Given the description of an element on the screen output the (x, y) to click on. 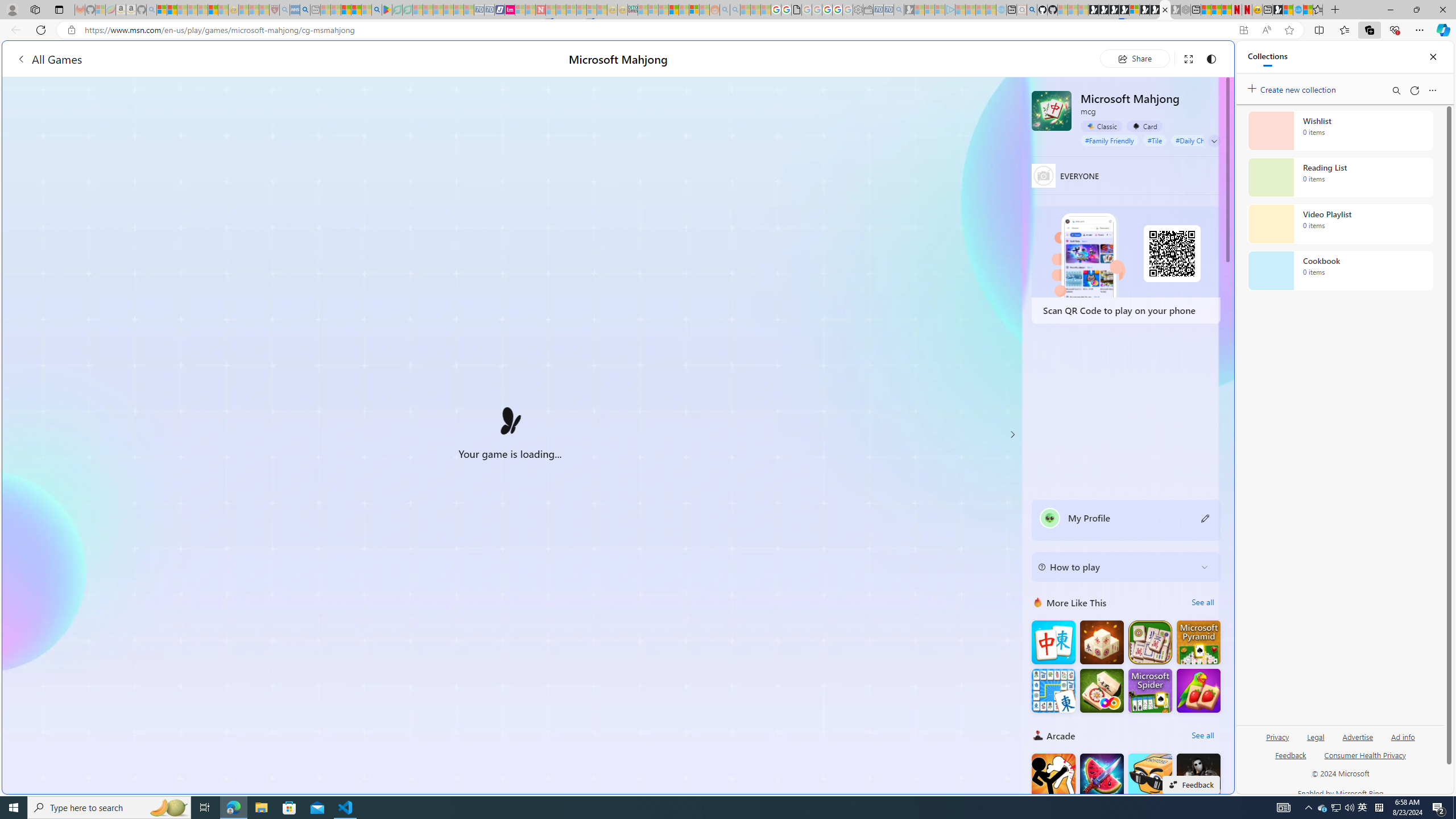
Classic (1101, 126)
Share (1134, 58)
Fruit Chopper (1101, 775)
